Given the description of an element on the screen output the (x, y) to click on. 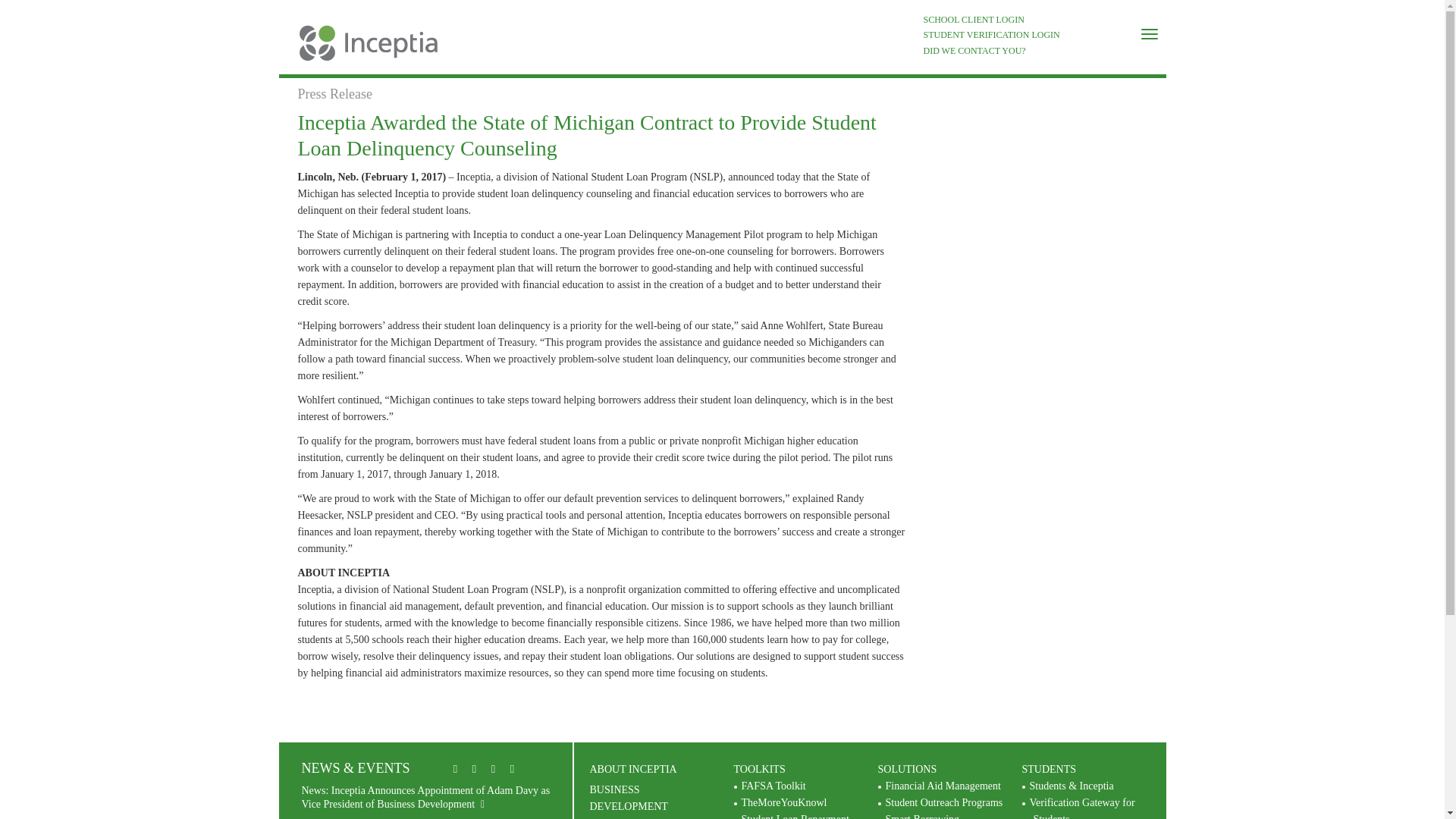
youtube (474, 768)
facebook (492, 768)
instagram (512, 768)
linkedin (454, 768)
